Given the description of an element on the screen output the (x, y) to click on. 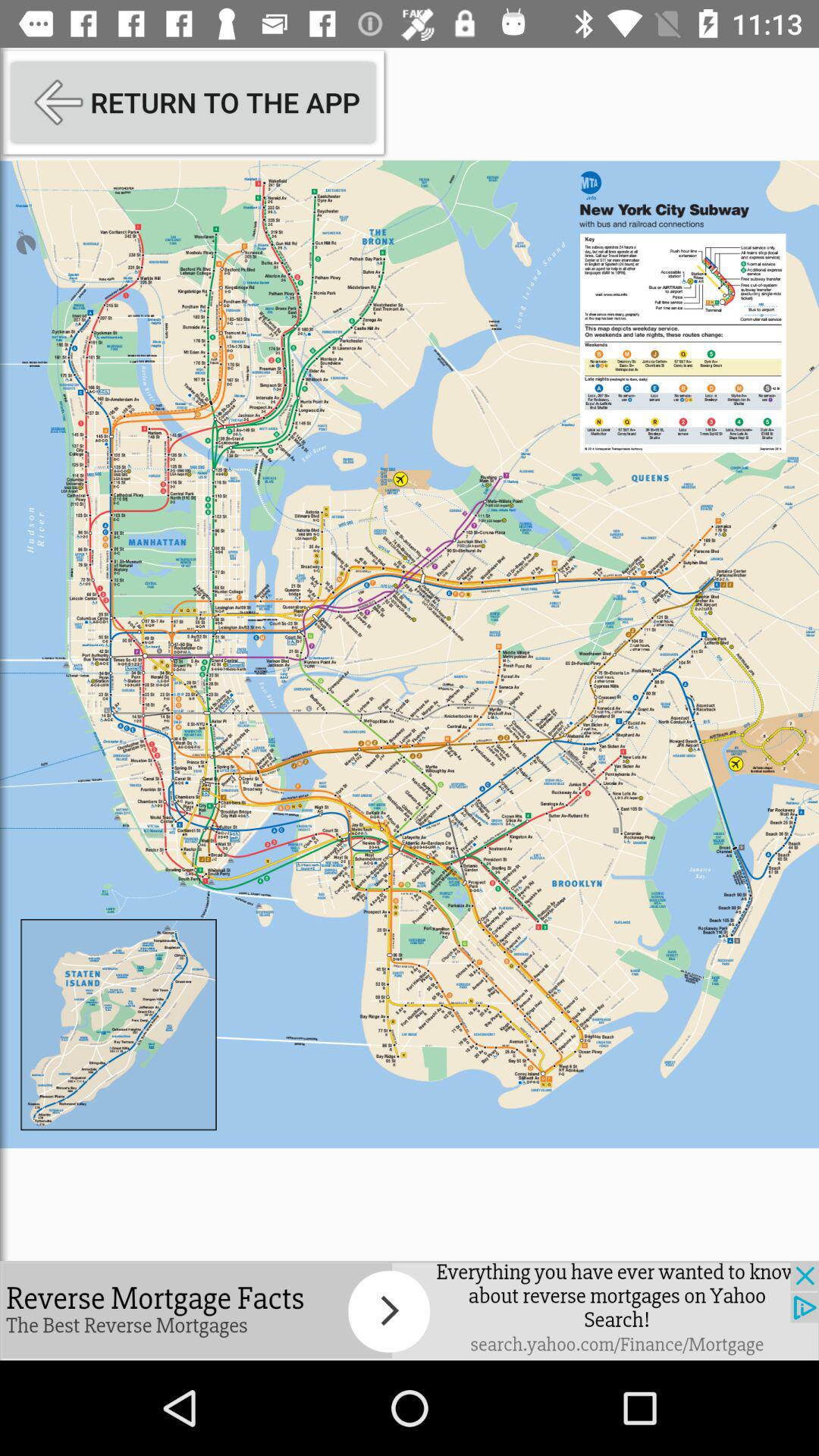
click the main page (409, 653)
